Given the description of an element on the screen output the (x, y) to click on. 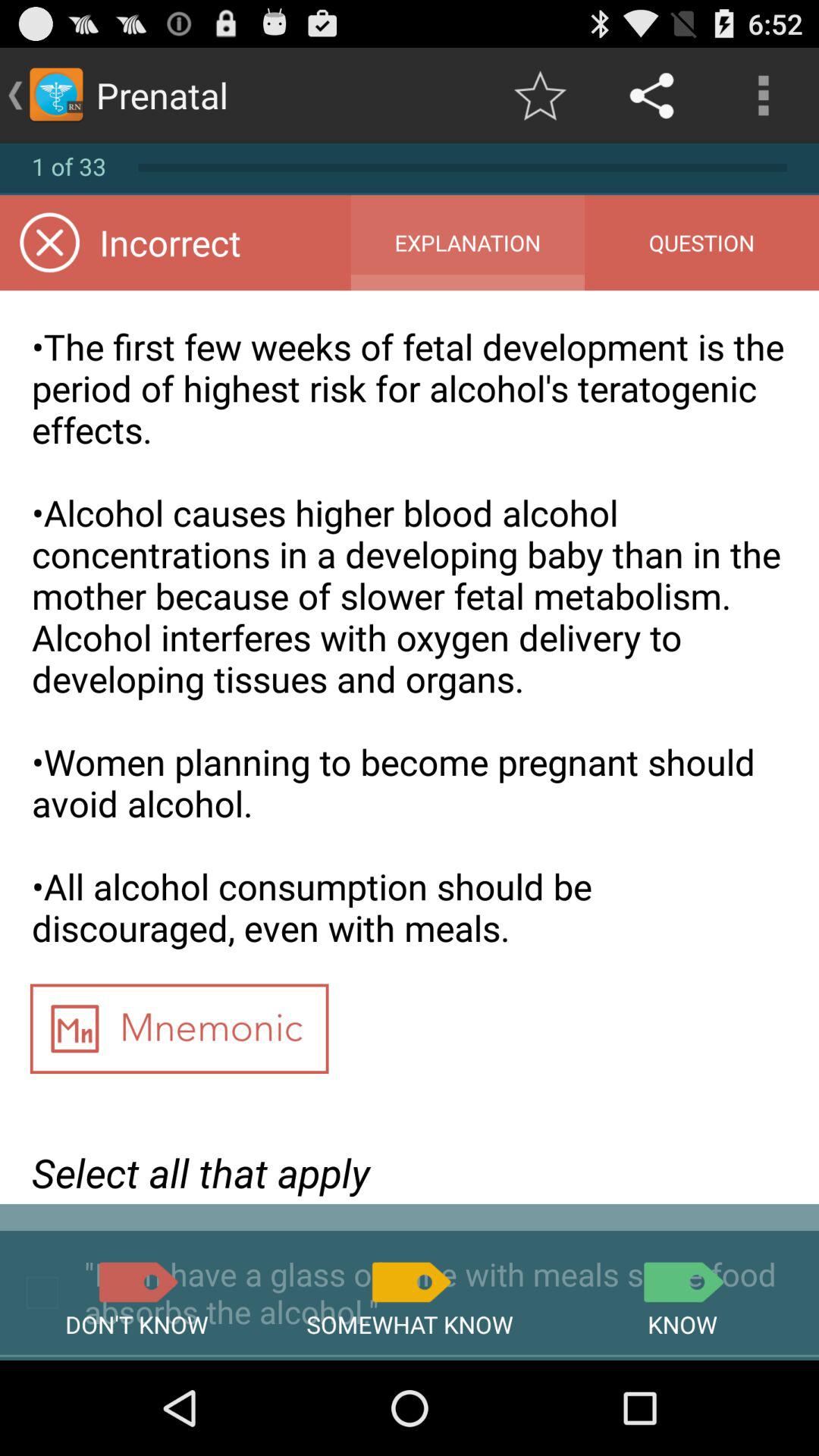
somewhat know (409, 1281)
